Given the description of an element on the screen output the (x, y) to click on. 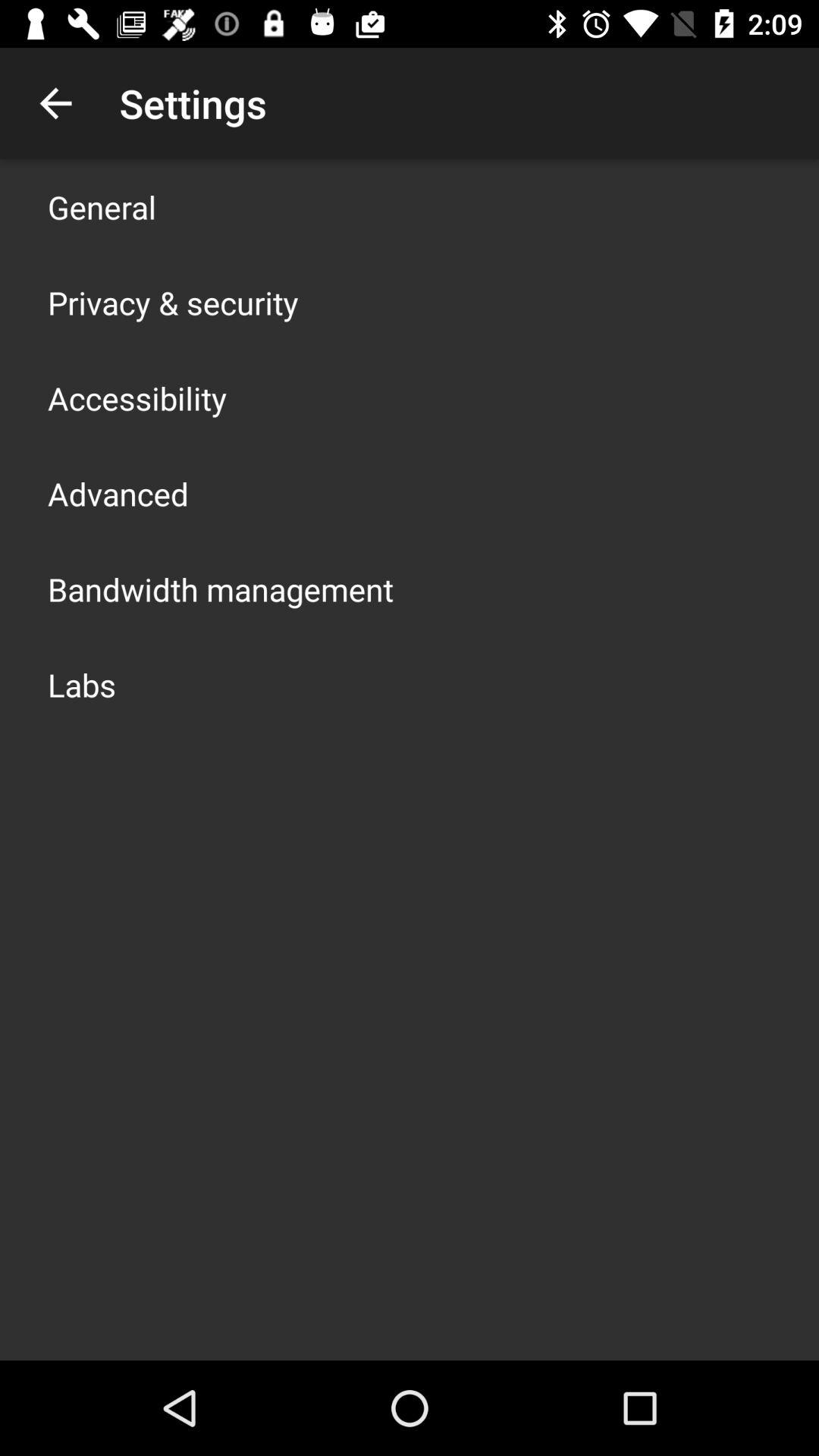
turn off privacy & security item (172, 302)
